Given the description of an element on the screen output the (x, y) to click on. 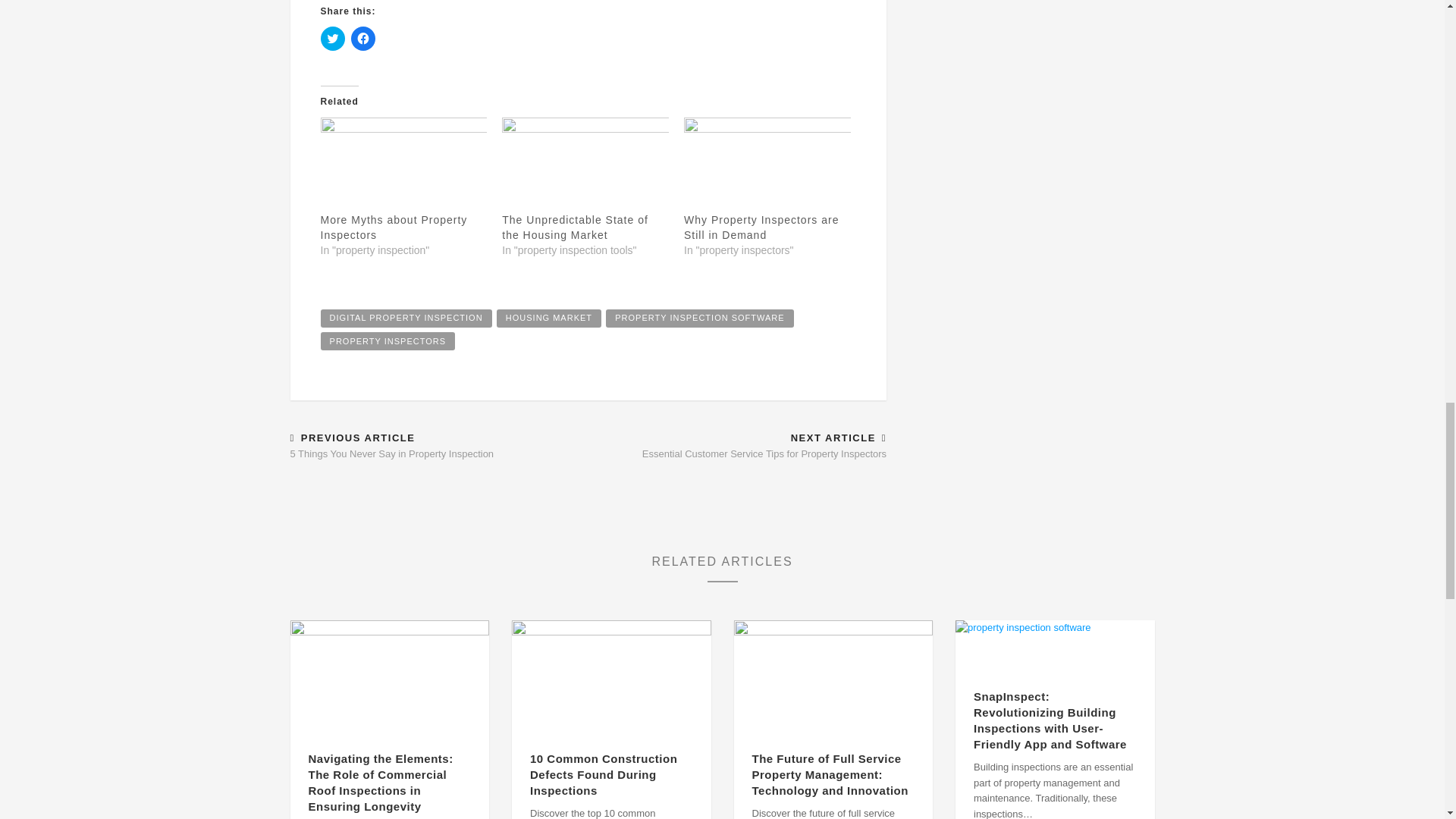
Click to share on Twitter (331, 38)
10 Common Construction Defects Found During Inspections (611, 675)
PROPERTY INSPECTION SOFTWARE (699, 318)
Why Property Inspectors are Still in Demand (767, 164)
More Myths about Property Inspectors (393, 226)
The Unpredictable State of the Housing Market (585, 164)
More Myths about Property Inspectors (403, 164)
HOUSING MARKET (548, 318)
Why Property Inspectors are Still in Demand (761, 226)
